Given the description of an element on the screen output the (x, y) to click on. 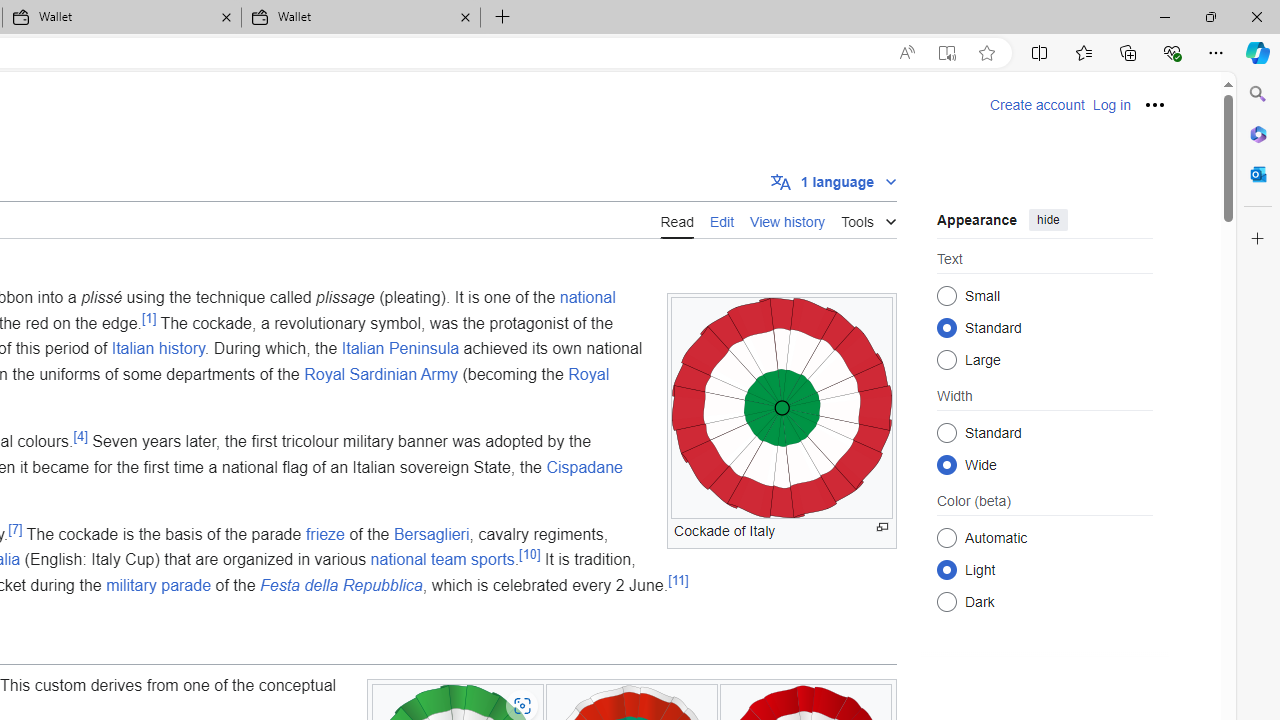
[4] (80, 435)
Edit (721, 219)
Log in (1111, 105)
military parade (159, 585)
Read (676, 219)
Bersaglieri (430, 533)
Italian Peninsula (399, 348)
frieze (324, 533)
Read (676, 219)
Royal Sardinian Army (381, 374)
